Given the description of an element on the screen output the (x, y) to click on. 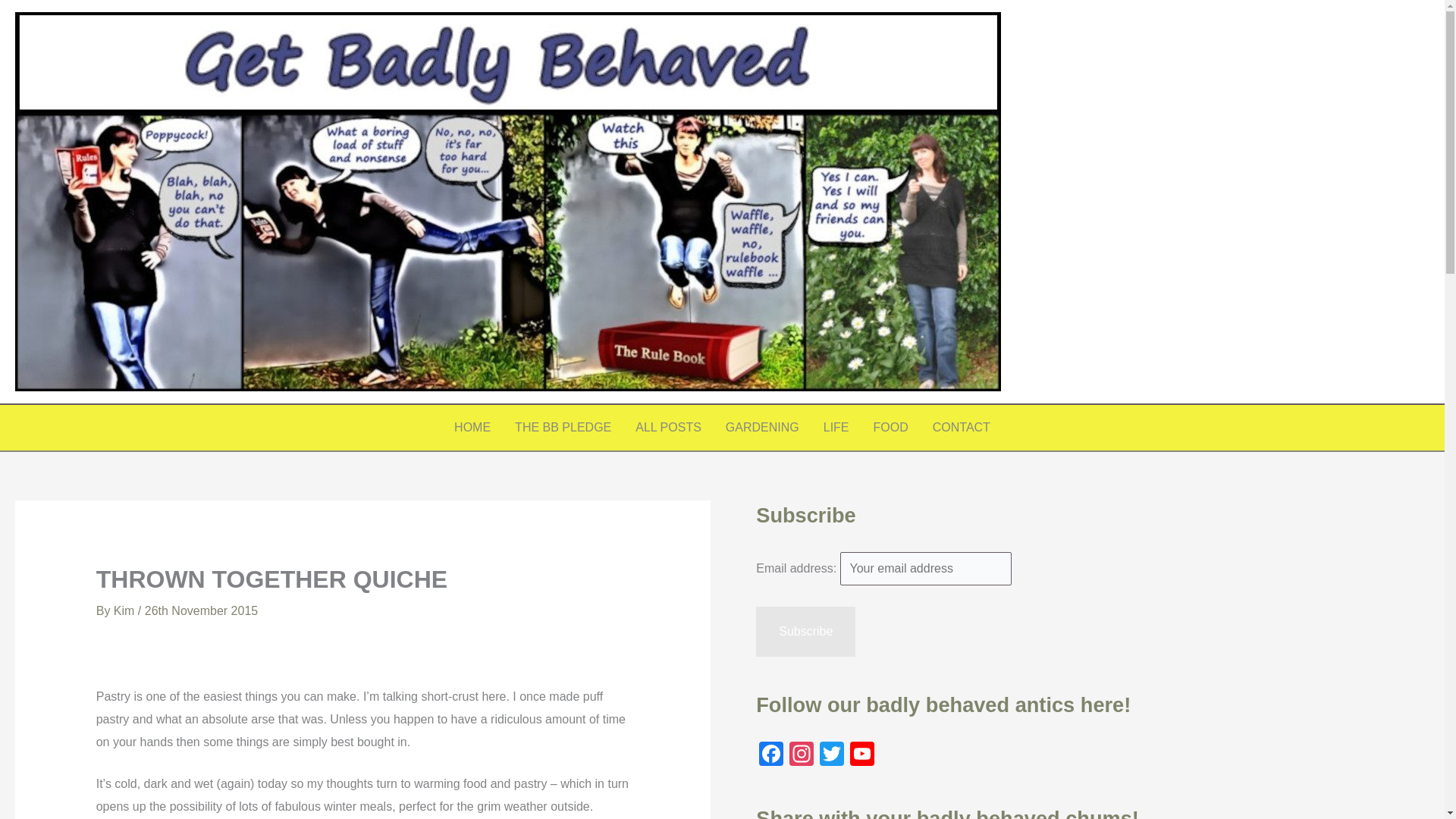
YouTube Channel (862, 755)
FOOD (890, 427)
Facebook (770, 755)
LIFE (835, 427)
GARDENING (761, 427)
Subscribe (805, 631)
CONTACT (961, 427)
HOME (472, 427)
YouTube Channel (862, 755)
View all posts by Kim (125, 610)
Facebook (770, 755)
THE BB PLEDGE (562, 427)
Kim (125, 610)
Subscribe (805, 631)
ALL POSTS (668, 427)
